Given the description of an element on the screen output the (x, y) to click on. 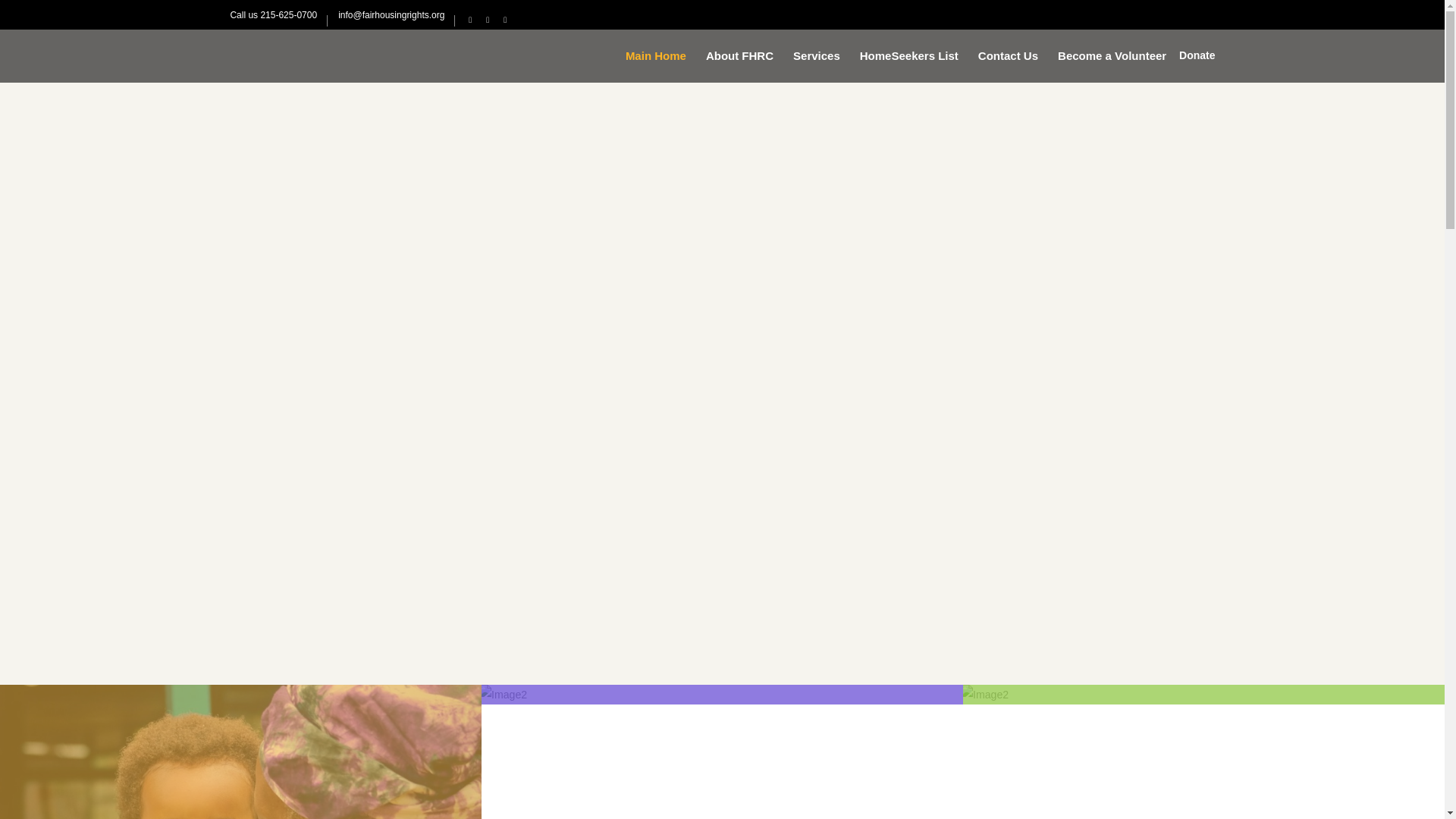
HomeSeekers List (909, 55)
Become a Volunteer (1112, 55)
Services (816, 55)
About FHRC (739, 55)
Contact Us (1008, 55)
Main Home (655, 55)
Donate (1196, 55)
